Given the description of an element on the screen output the (x, y) to click on. 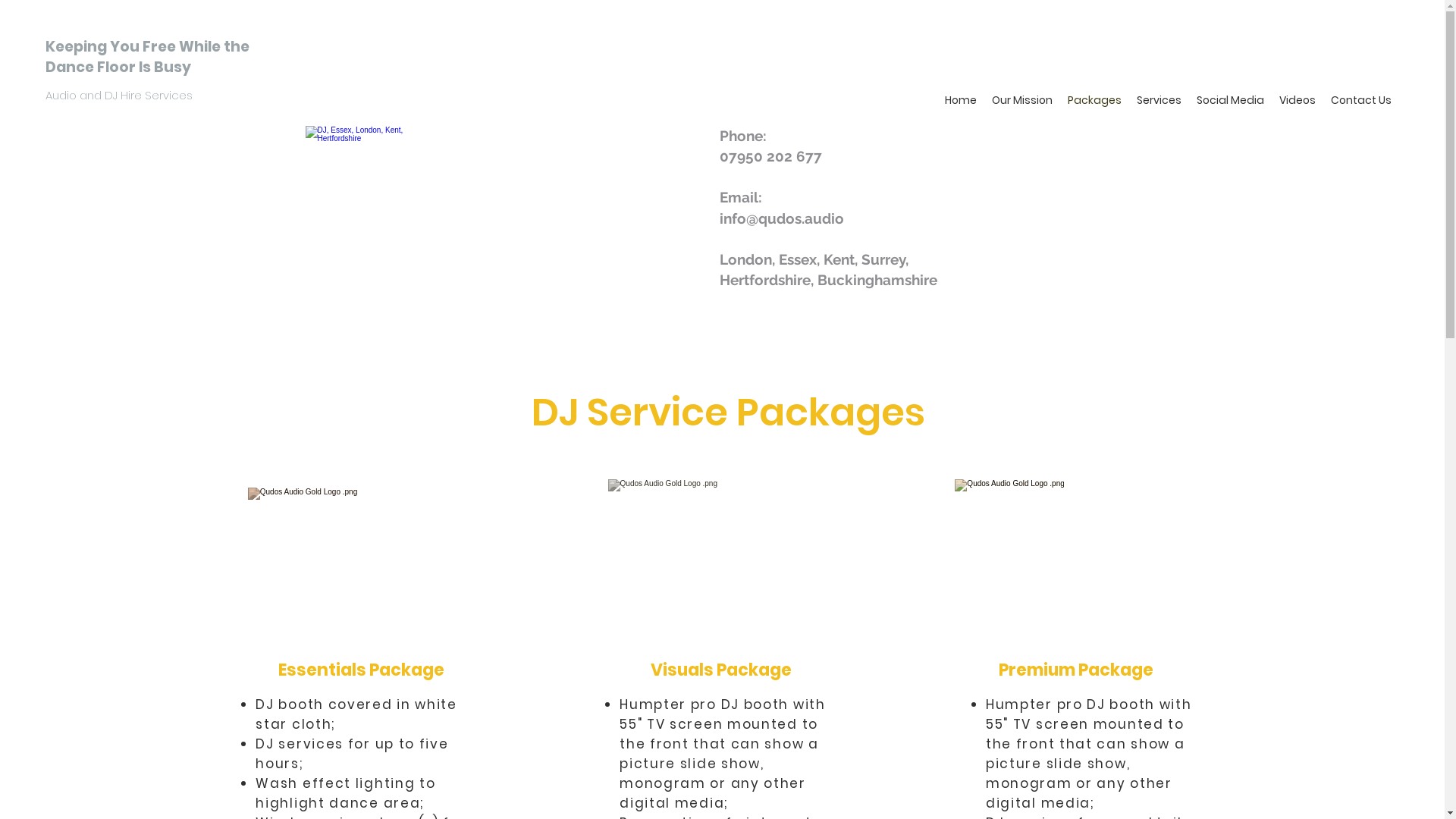
Social Media Element type: text (1230, 100)
Packages Element type: text (1094, 100)
Videos Element type: text (1297, 100)
Keeping You Free While the Dance Floor Is Busy Element type: text (147, 56)
Home Element type: text (960, 100)
Our Mission Element type: text (1022, 100)
Contact Us Element type: text (1361, 100)
Audio and DJ Hire Services  Element type: text (120, 95)
Services Element type: text (1159, 100)
